Given the description of an element on the screen output the (x, y) to click on. 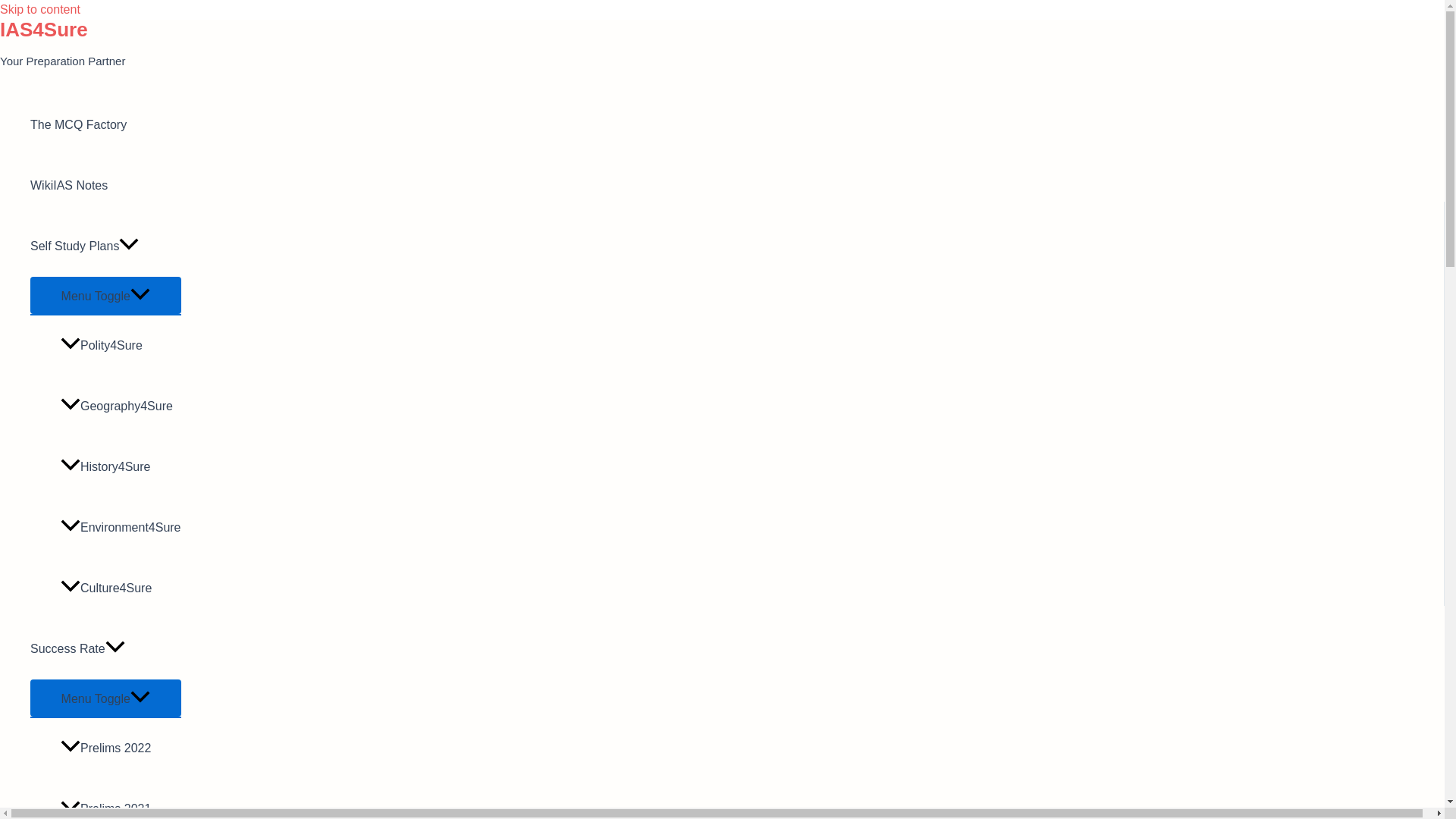
IAS4Sure (43, 29)
Menu Toggle (105, 697)
Prelims 2021 (120, 798)
Culture4Sure (120, 588)
Menu Toggle (105, 294)
History4Sure (120, 466)
Prelims 2022 (120, 748)
Polity4Sure (120, 345)
Skip to content (40, 9)
Skip to content (40, 9)
